Given the description of an element on the screen output the (x, y) to click on. 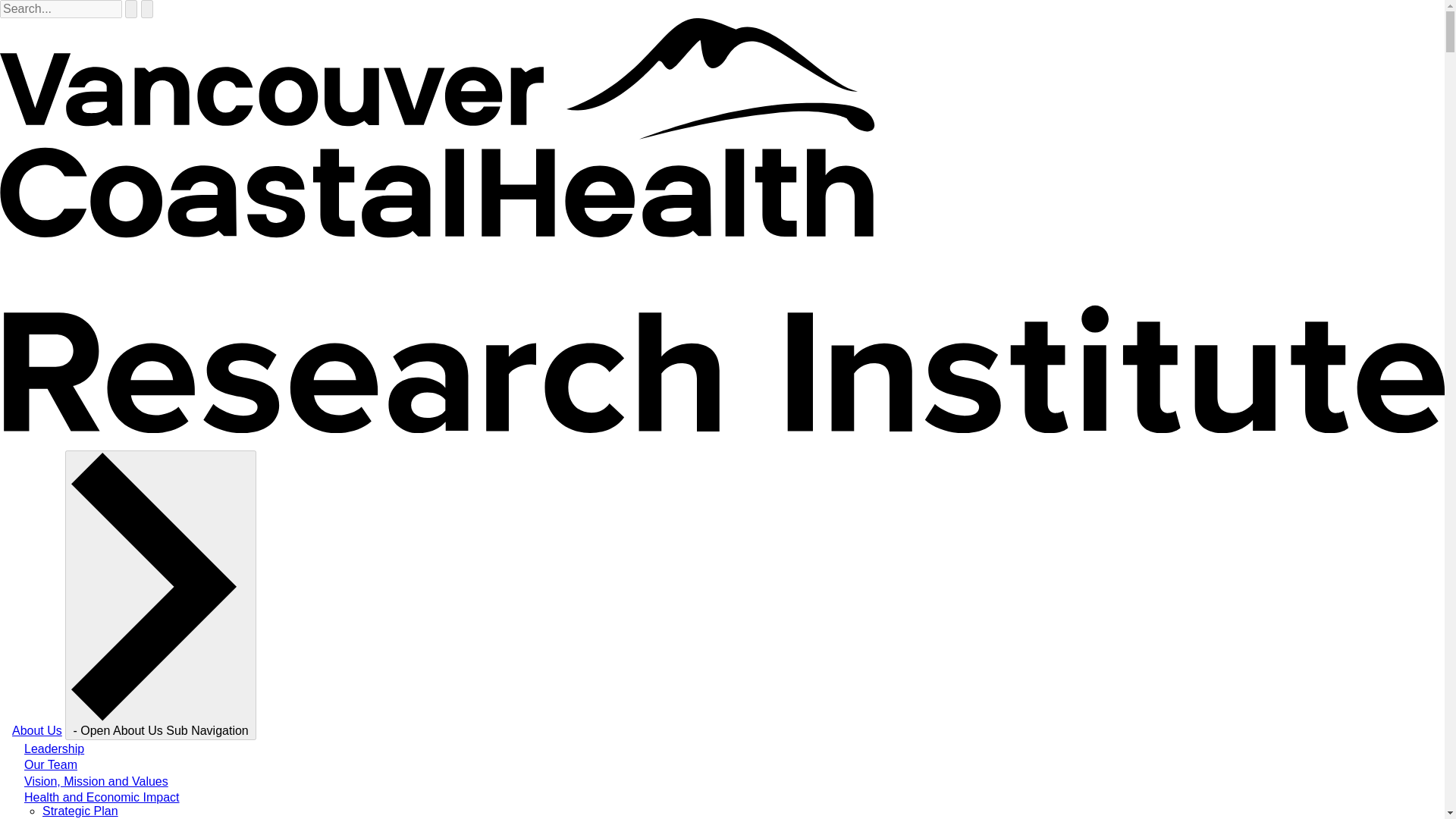
VCHRI five-year strategic plan (79, 810)
Our Team (50, 764)
Enter the terms you wish to search for. (61, 9)
Leadership (54, 748)
Strategic Plan (79, 810)
Health and Economic Impact (101, 797)
About Us (36, 730)
Vision, Mission and Values (96, 780)
